Given the description of an element on the screen output the (x, y) to click on. 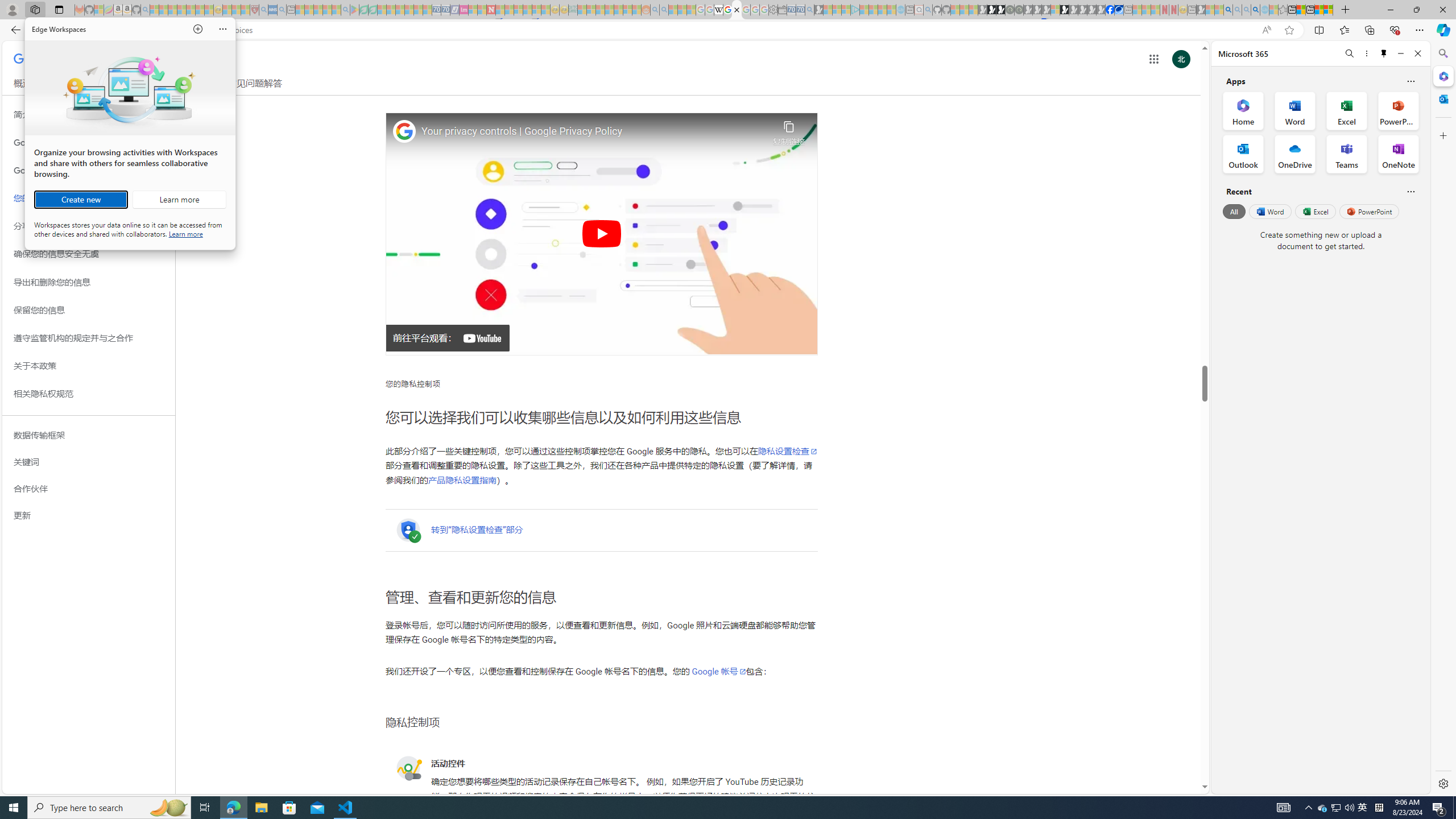
Learn more about Workspaces (178, 199)
Aberdeen, Hong Kong SAR weather forecast | Microsoft Weather (1300, 9)
